Given the description of an element on the screen output the (x, y) to click on. 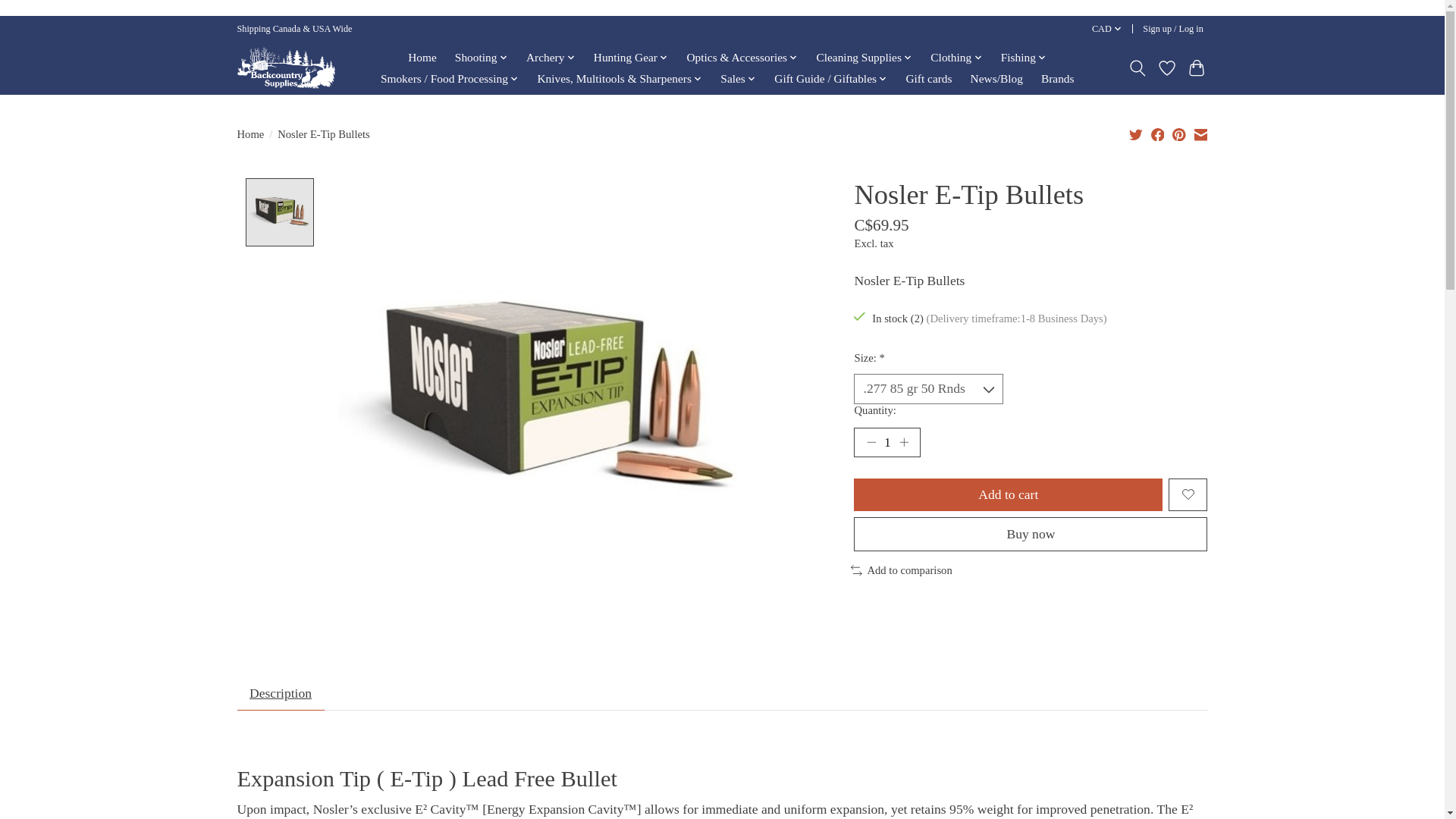
CAD (1106, 28)
Share on Twitter (1135, 133)
Backcountry Supplies (284, 67)
Shooting (481, 56)
Share on Facebook (1157, 133)
Share by Email (1200, 133)
Home (422, 56)
My account (1173, 28)
Share on Pinterest (1178, 133)
1 (886, 442)
